Given the description of an element on the screen output the (x, y) to click on. 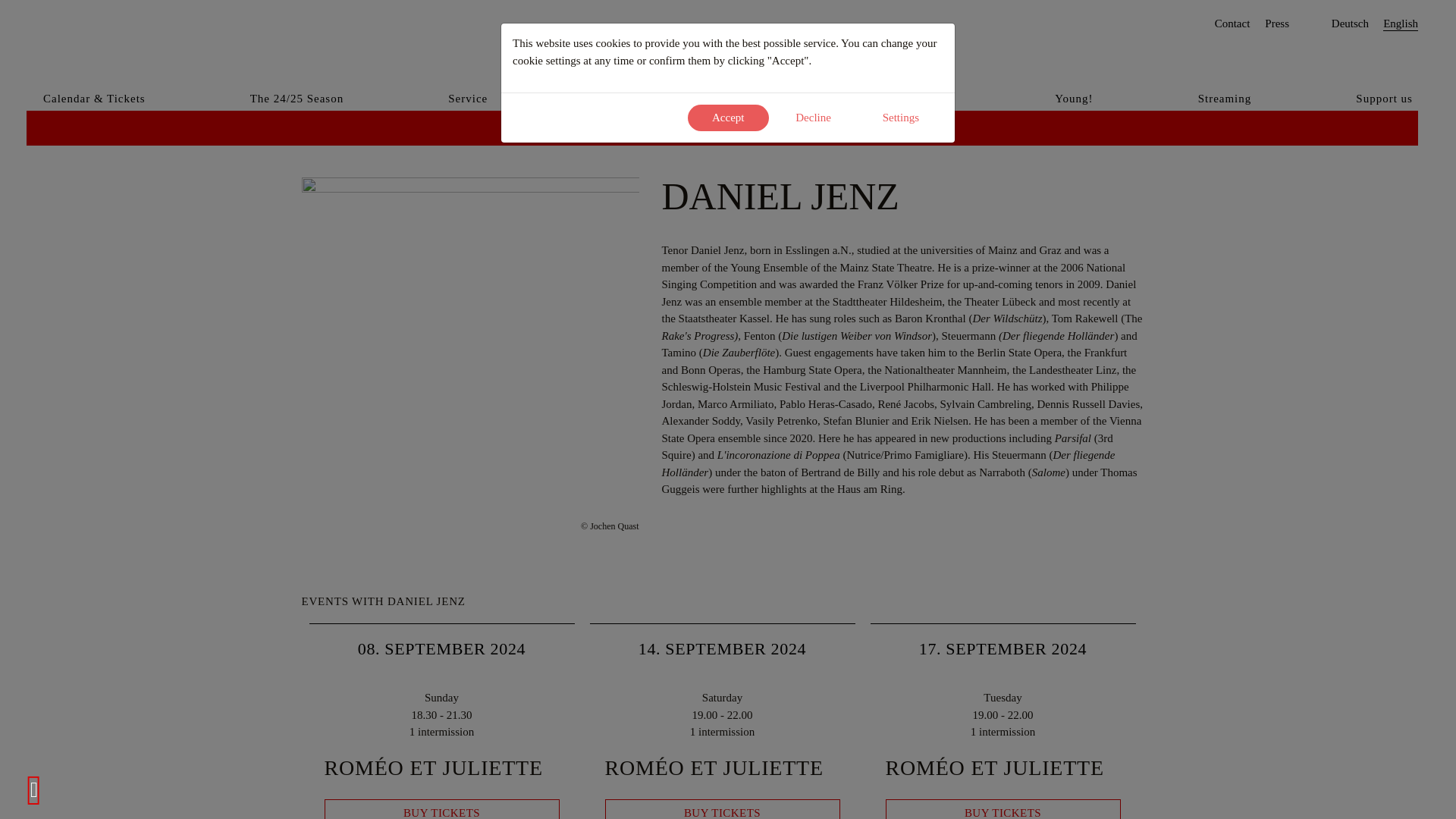
Orchestra (751, 127)
Contact (1232, 23)
Decline (813, 117)
English (1400, 23)
Artists (609, 97)
Deutsch (1350, 23)
Accept (727, 117)
Ballet (684, 127)
Contact (1232, 23)
Press (1276, 23)
Service (467, 97)
Orchestra (751, 127)
Wiener Staatsoper (157, 35)
Service (467, 97)
Opera (626, 127)
